Given the description of an element on the screen output the (x, y) to click on. 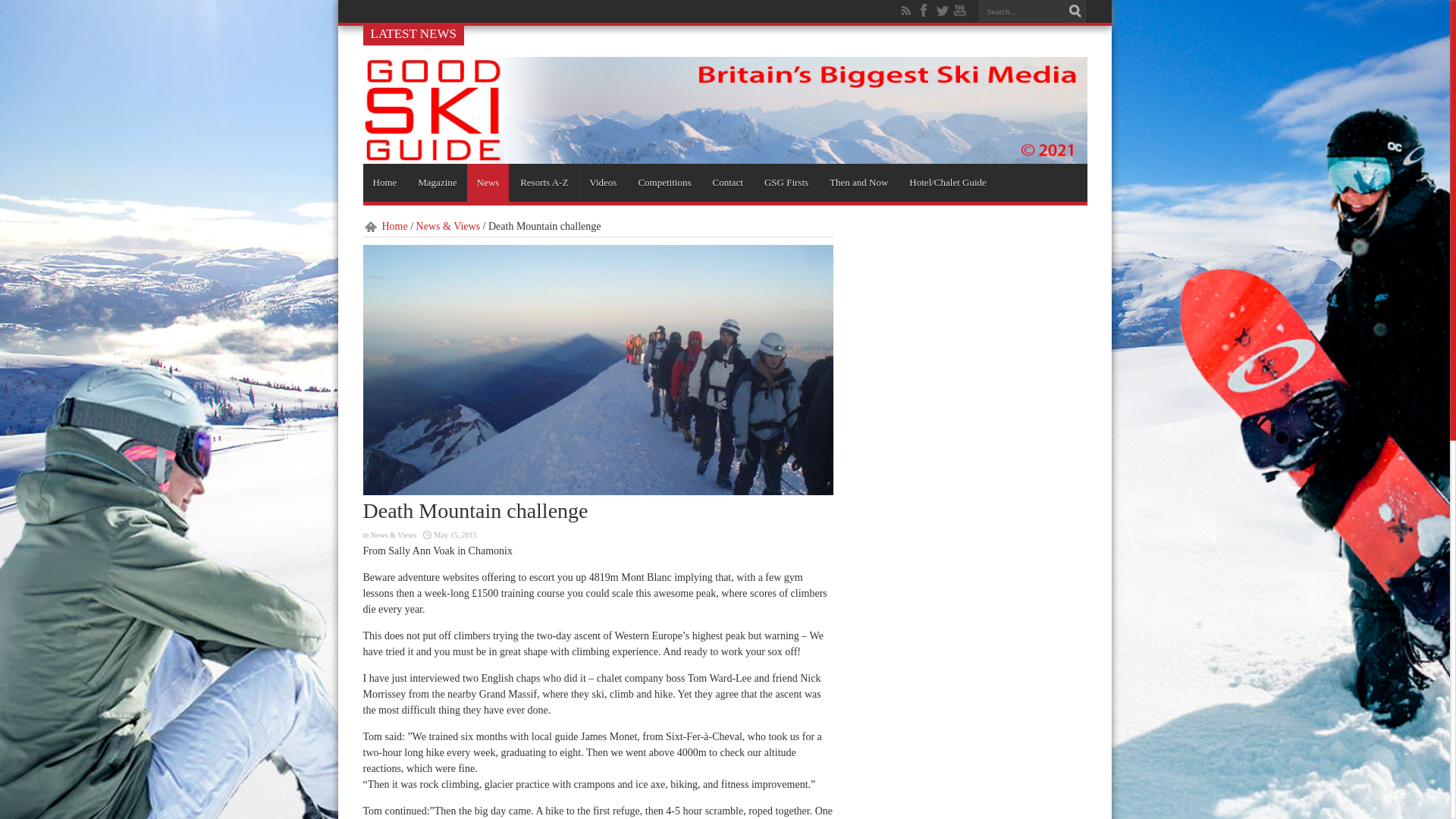
Twitter (941, 10)
Search (1075, 11)
Home (384, 182)
Competitions (663, 182)
Search... (1020, 11)
Then and Now (858, 182)
Facebook (923, 10)
Contact (726, 182)
News (488, 182)
Rss (905, 10)
Youtube (960, 10)
GSG Firsts (786, 182)
Resorts A-Z (543, 182)
Videos (602, 182)
Magazine (436, 182)
